Given the description of an element on the screen output the (x, y) to click on. 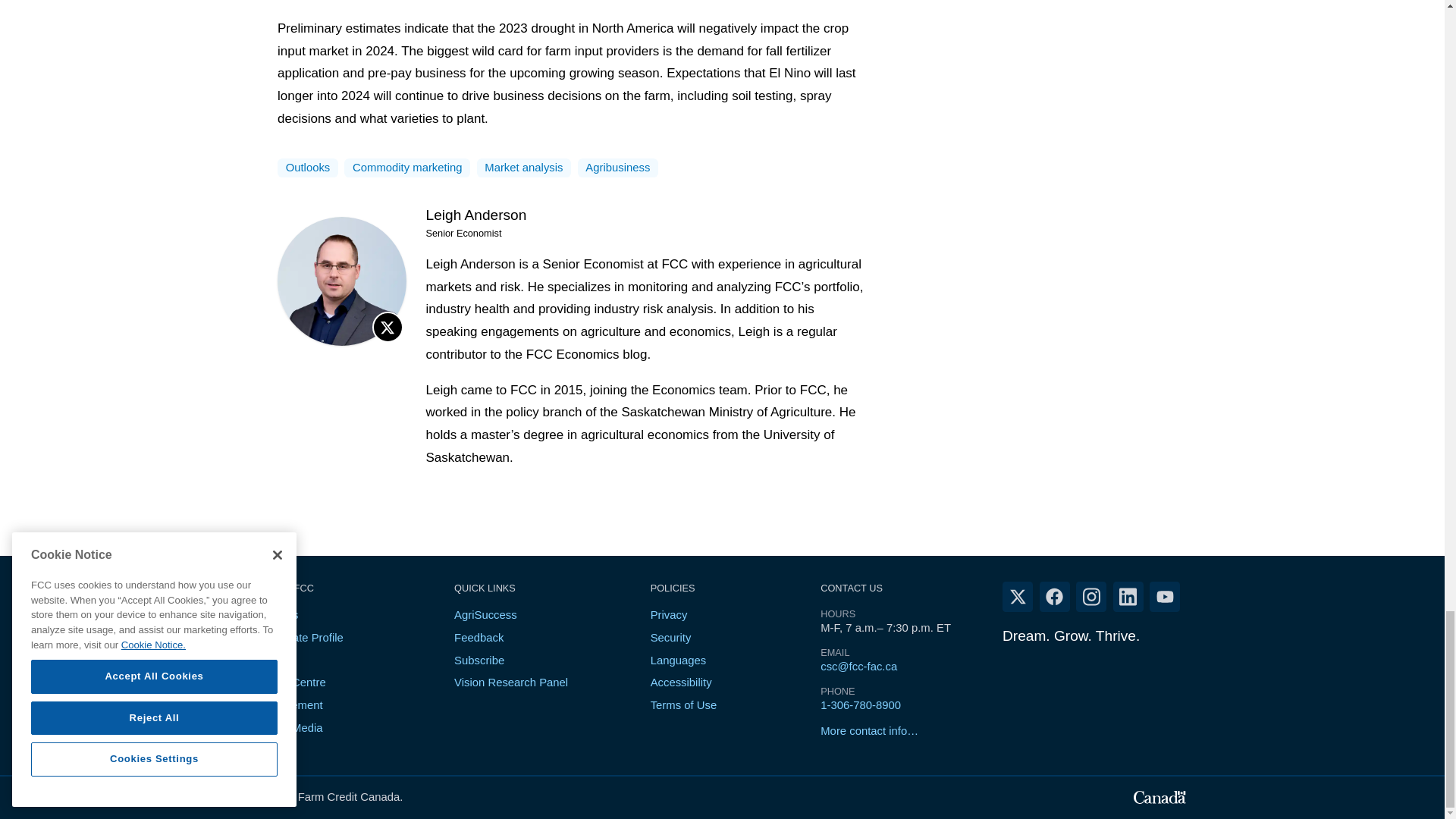
Commodity marketing (406, 167)
Careers (277, 614)
Agribusiness (618, 167)
AgriSuccess (485, 614)
Media Centre (290, 682)
Social Media (289, 727)
Market analysis (523, 167)
Procurement (289, 705)
Corporate Profile (299, 637)
Outlooks (307, 167)
ESG (269, 660)
